Given the description of an element on the screen output the (x, y) to click on. 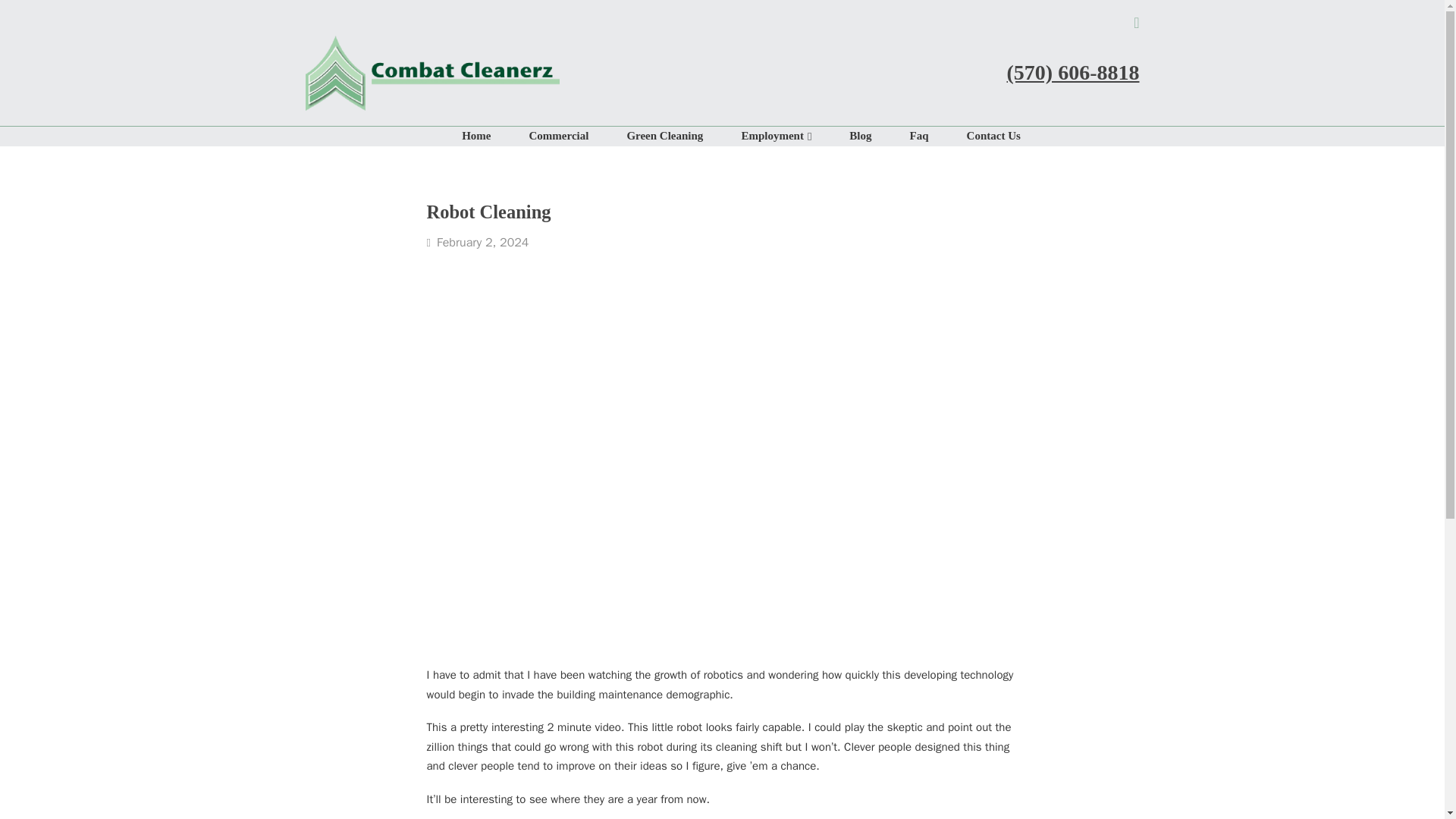
Faq (900, 136)
Blog (840, 136)
Commercial (540, 136)
Green Cleaning (645, 136)
Contact Us (974, 136)
Employment (753, 136)
Home (456, 136)
